Given the description of an element on the screen output the (x, y) to click on. 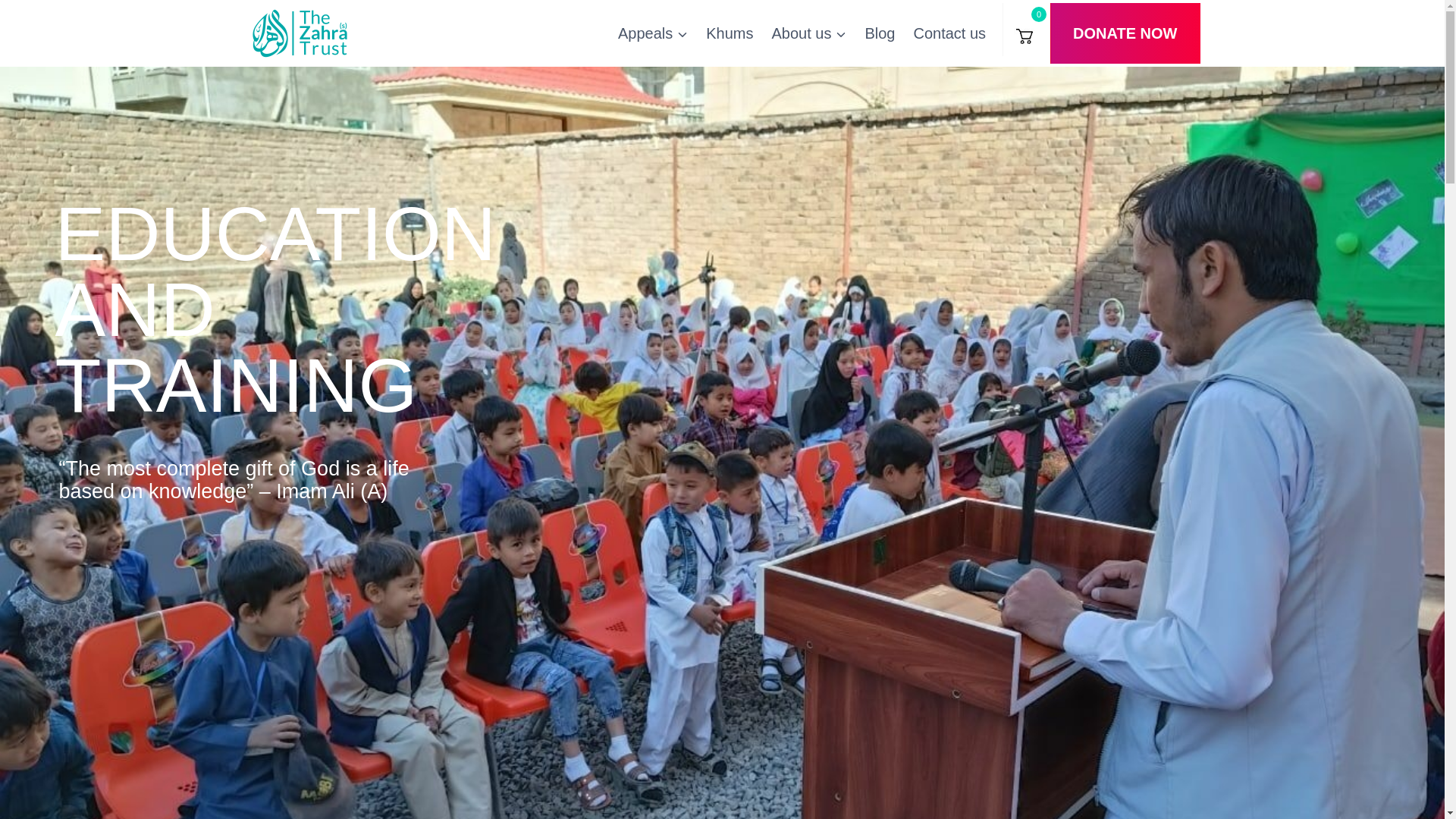
Contact us (949, 33)
Appeals (652, 33)
DONATE NOW (1124, 33)
0 (1026, 29)
Blog (880, 33)
Khums (729, 33)
About us (809, 33)
